Given the description of an element on the screen output the (x, y) to click on. 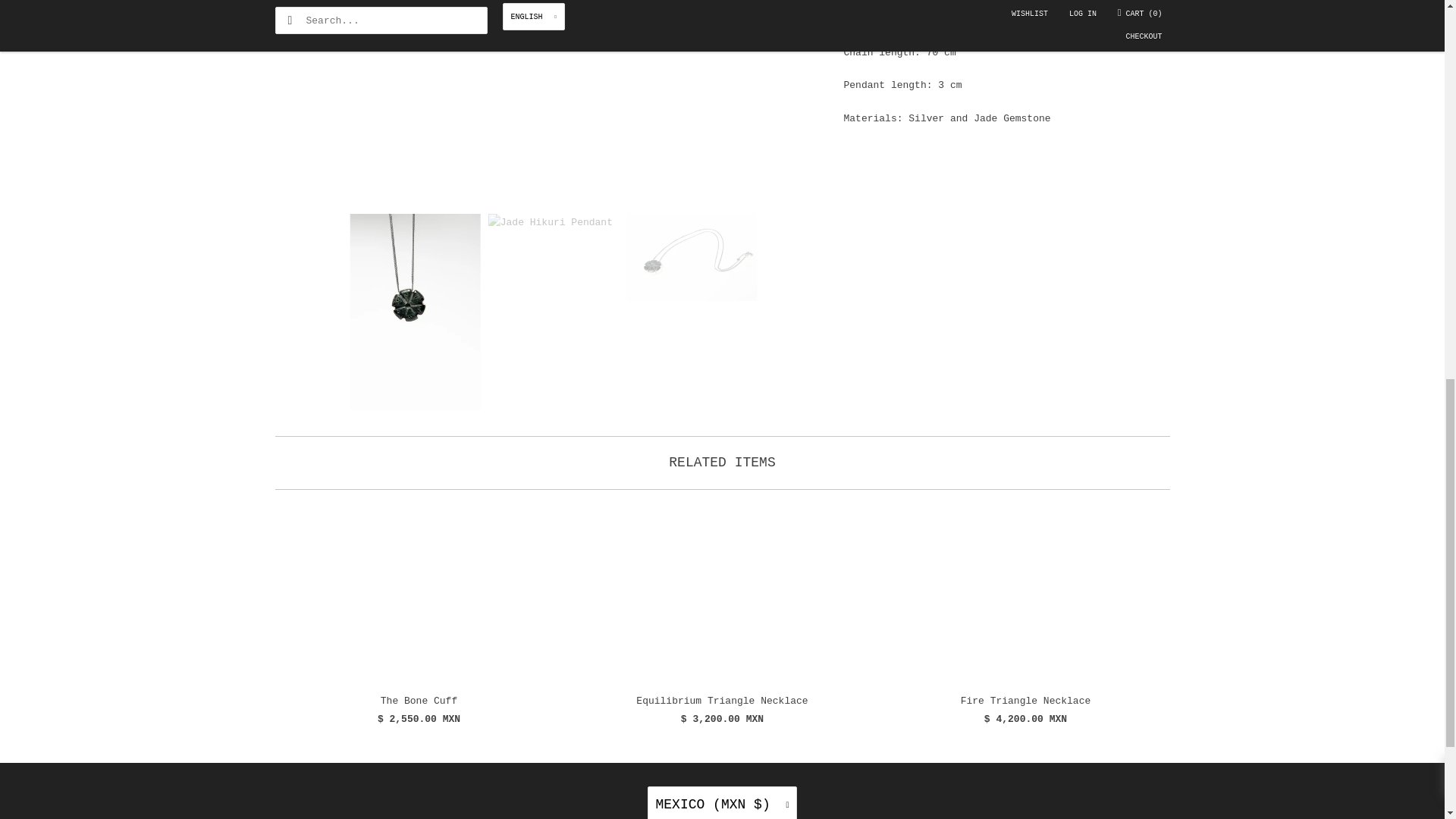
Jade Hikuri Pendant (552, 99)
